Given the description of an element on the screen output the (x, y) to click on. 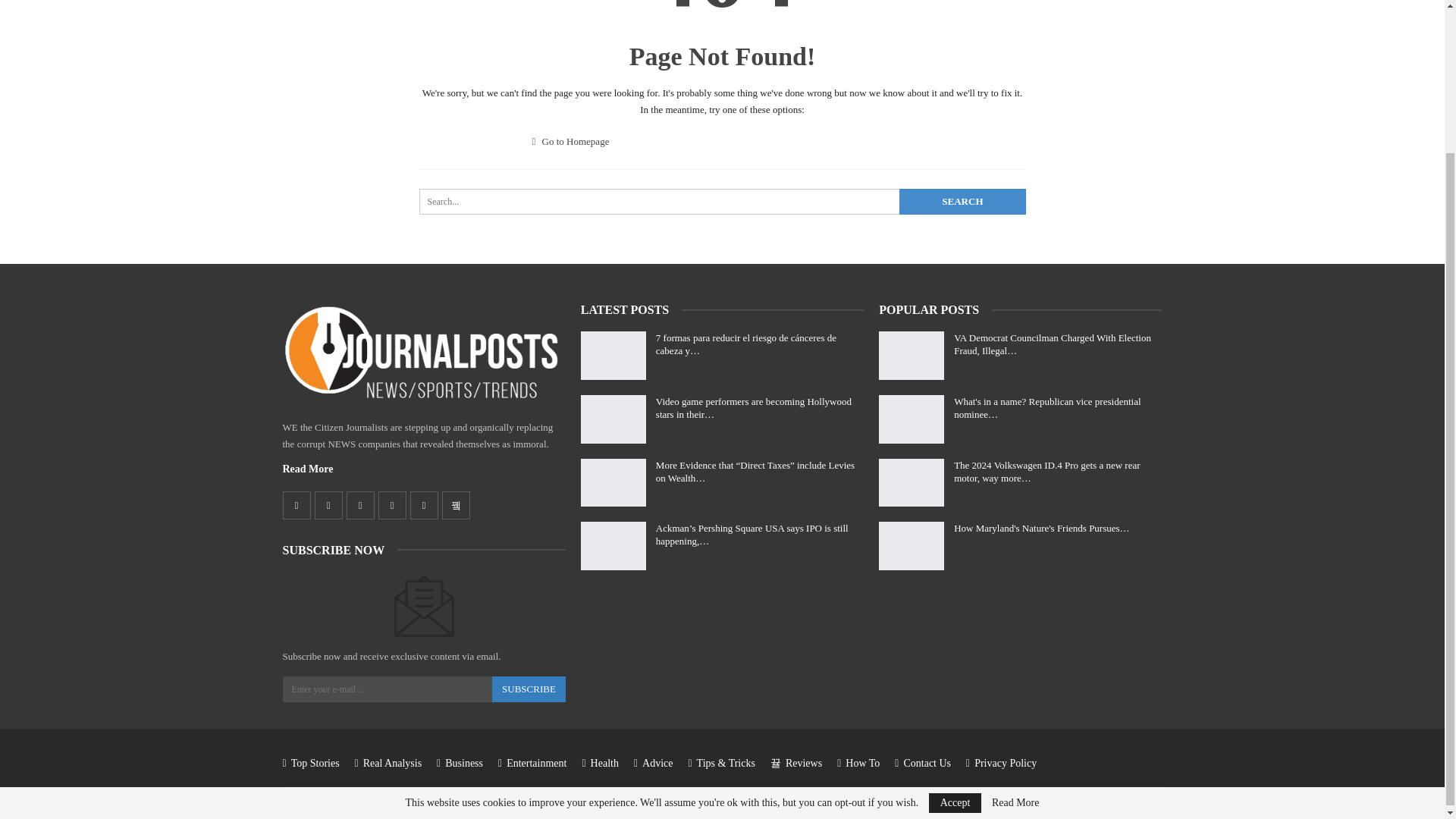
Search (962, 201)
Search for: (722, 201)
Search (962, 201)
Search (962, 201)
Read More (307, 469)
Go to Homepage (571, 141)
